Given the description of an element on the screen output the (x, y) to click on. 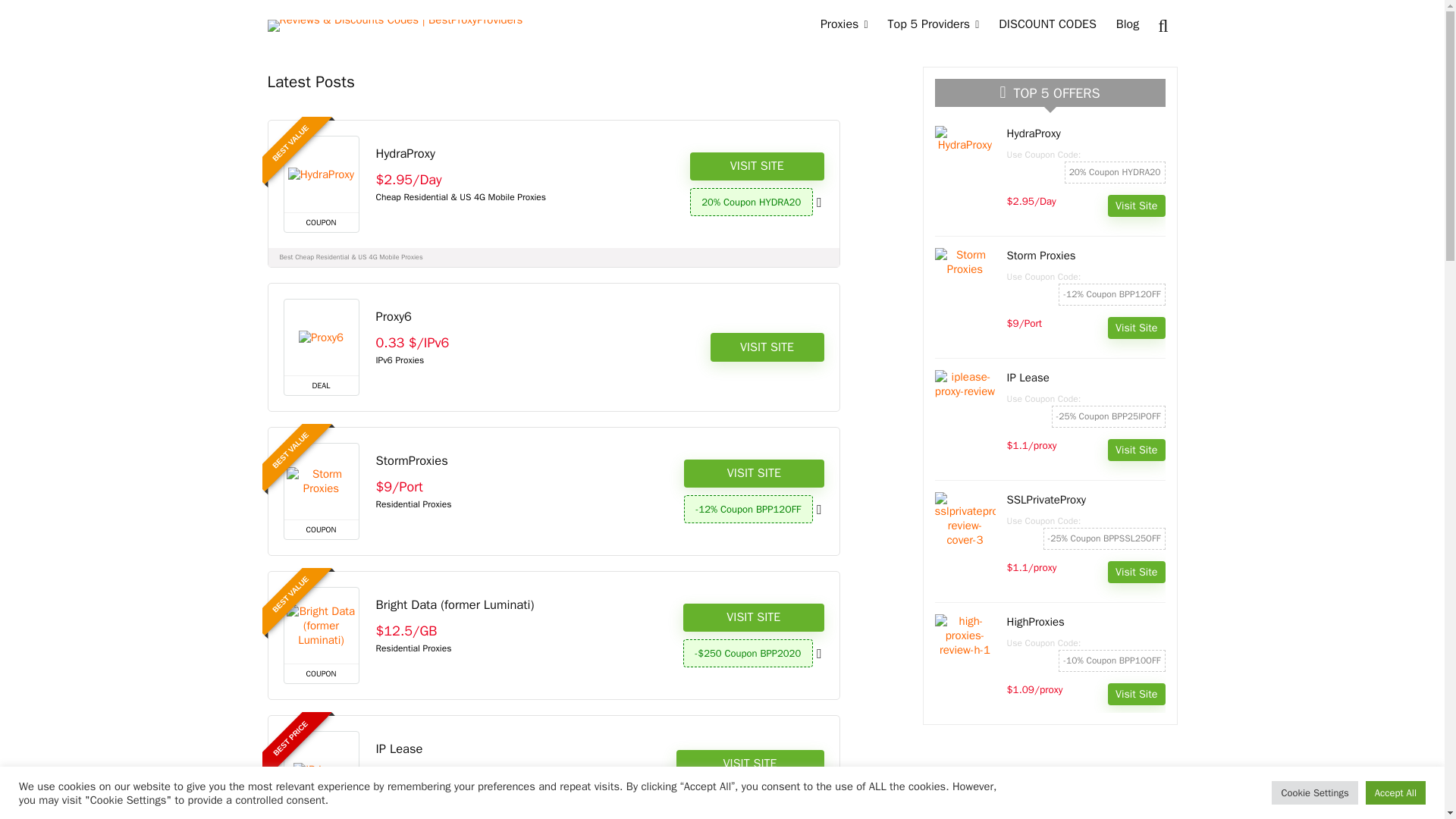
Proxies (843, 25)
DISCOUNT CODES (1047, 25)
StormProxies (411, 460)
VISIT SITE (754, 473)
VISIT SITE (767, 346)
VISIT SITE (757, 166)
Top 5 Providers (933, 25)
HydraProxy (405, 153)
Proxy6 (393, 316)
Blog (1127, 25)
